Given the description of an element on the screen output the (x, y) to click on. 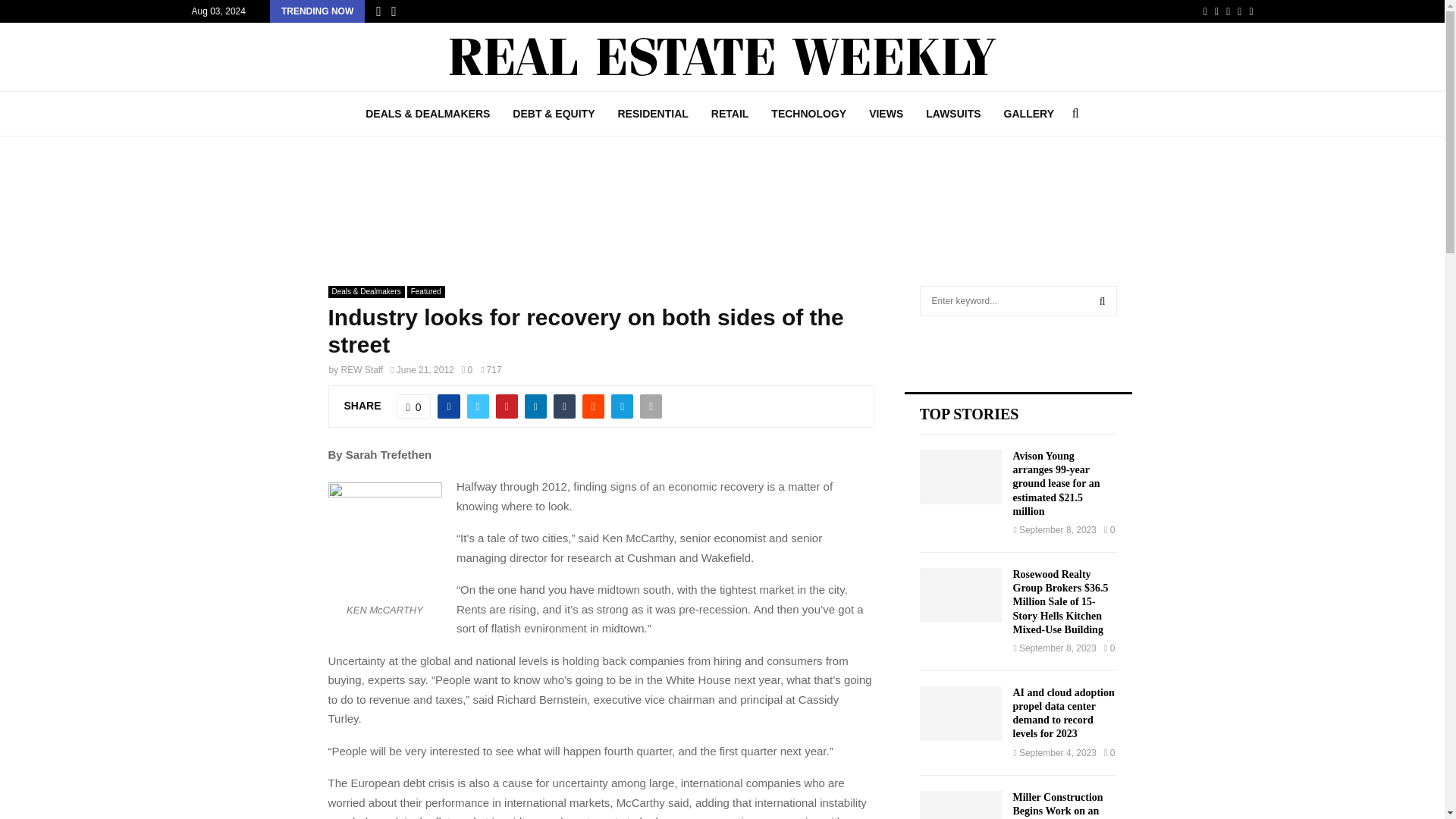
REW Staff (362, 369)
LAWSUITS (952, 113)
Featured (426, 291)
RESIDENTIAL (652, 113)
GALLERY (1029, 113)
McCarthy Ken 2006x (384, 539)
Like (413, 405)
0 (413, 405)
TECHNOLOGY (808, 113)
0 (466, 369)
